Given the description of an element on the screen output the (x, y) to click on. 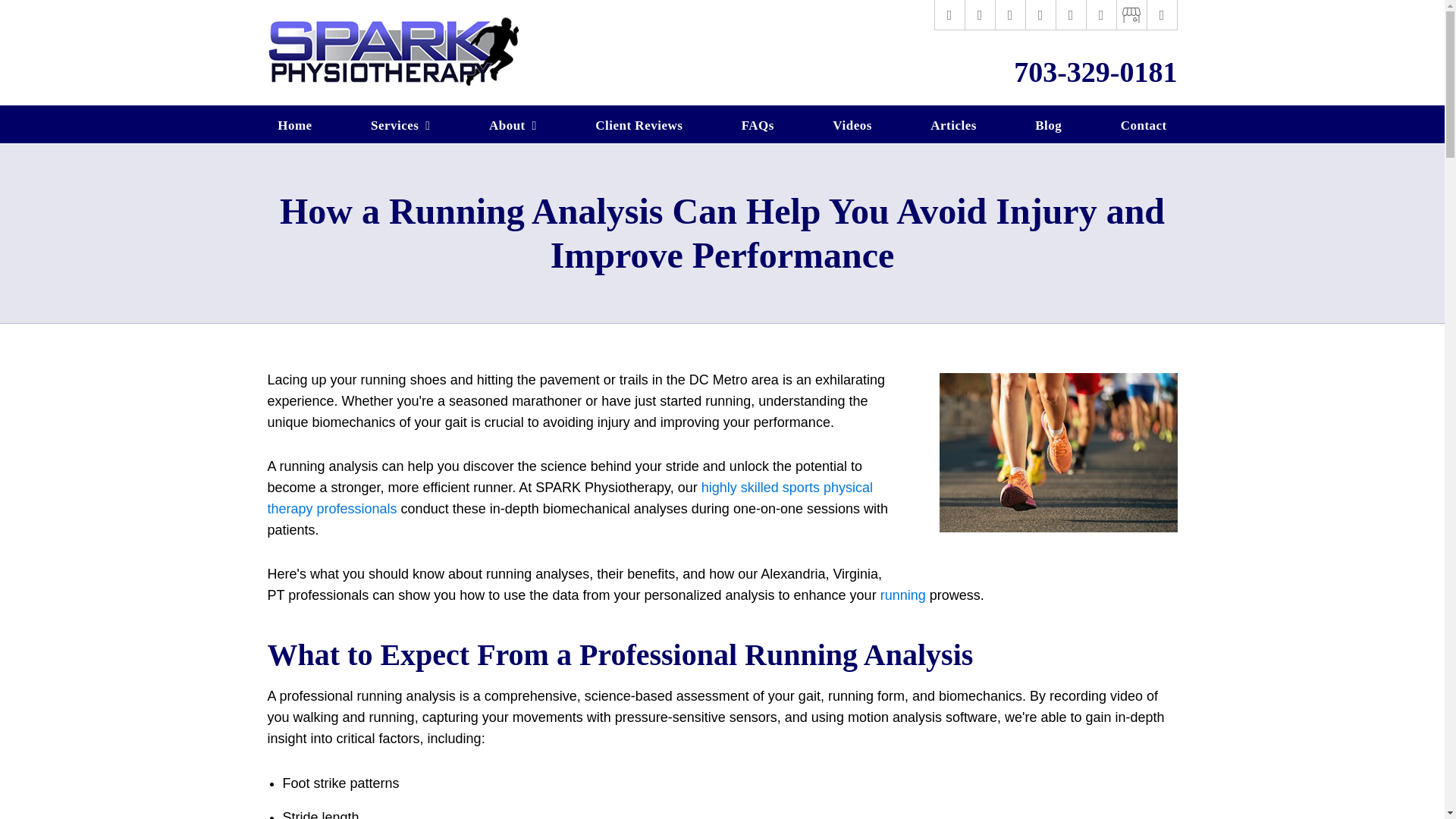
Home (295, 124)
Services (400, 124)
Contact (1143, 124)
Blog (1048, 124)
About (513, 124)
Articles (953, 124)
Videos (852, 124)
FAQs (757, 124)
running (903, 595)
Client Reviews (638, 124)
highly skilled sports physical therapy professionals (569, 497)
